Given the description of an element on the screen output the (x, y) to click on. 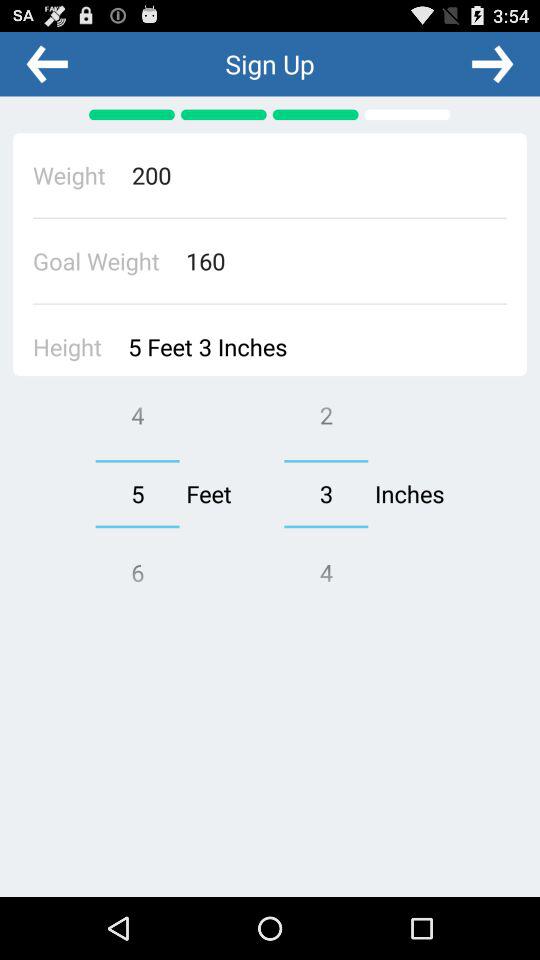
go to previous option (47, 63)
